Given the description of an element on the screen output the (x, y) to click on. 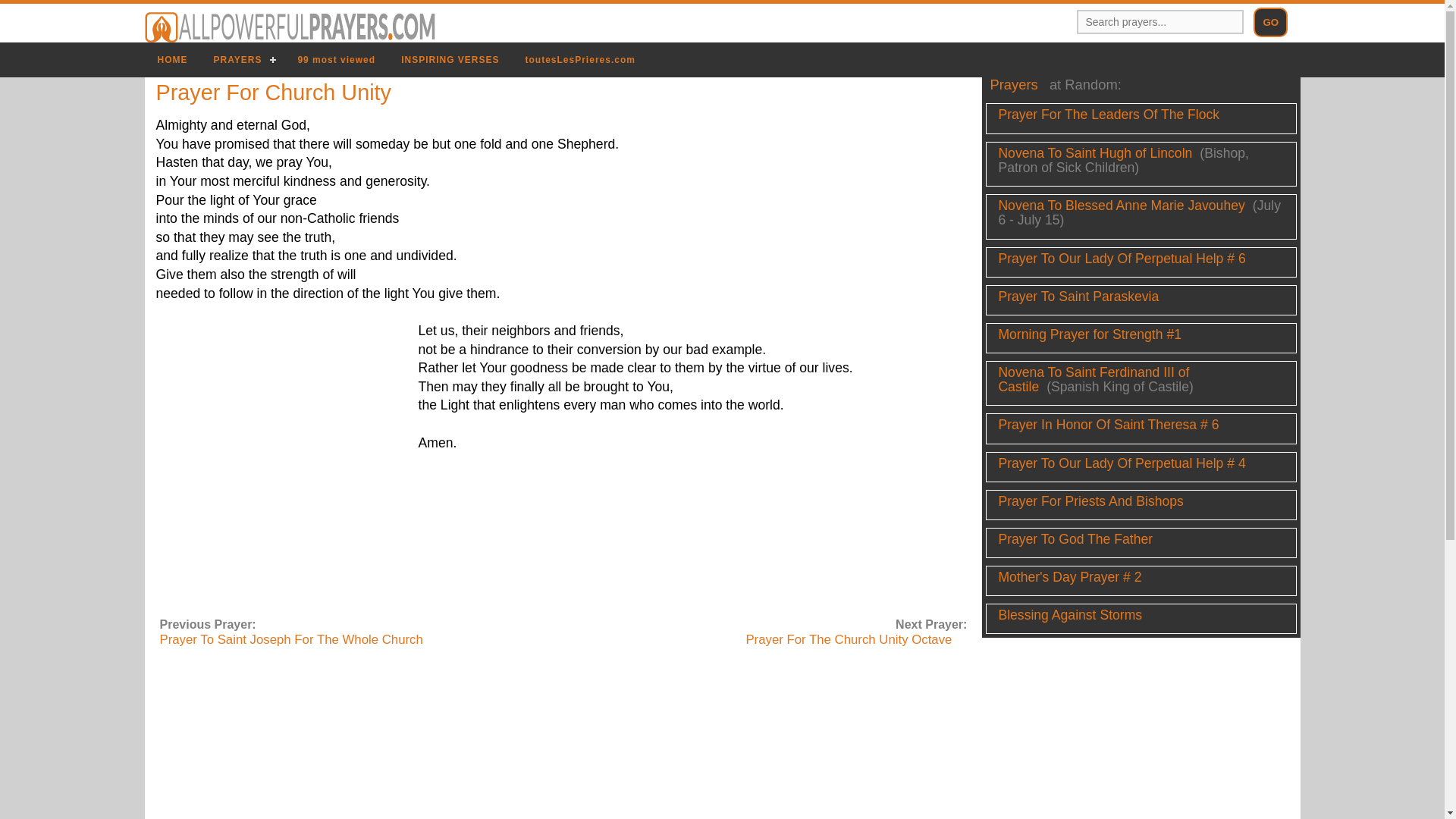
HOME (172, 59)
HOME (172, 59)
INSPIRING VERSES (450, 59)
All Powerful Prayers (289, 26)
GO (1270, 21)
PRAYERS (241, 59)
toutesLesPrieres.com (579, 59)
GO (1270, 21)
PRAYERS (241, 59)
99 most viewed (335, 59)
